Given the description of an element on the screen output the (x, y) to click on. 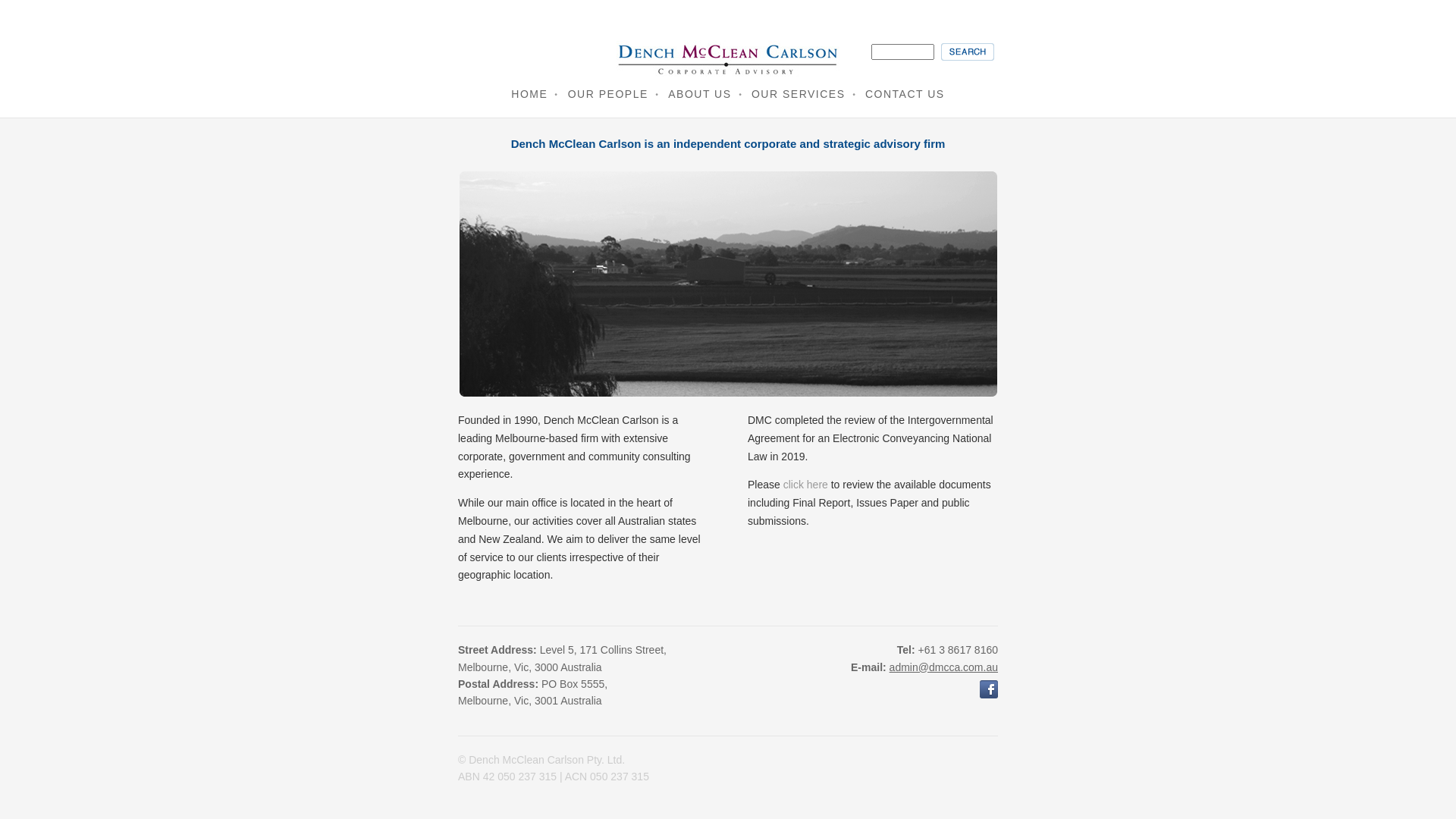
HOME Element type: text (529, 93)
ABOUT US Element type: text (699, 93)
admin@dmcca.com.au Element type: text (943, 667)
CONTACT US Element type: text (904, 93)
click here Element type: text (805, 484)
OUR SERVICES Element type: text (798, 93)
  Element type: text (967, 51)
OUR PEOPLE Element type: text (607, 93)
